Given the description of an element on the screen output the (x, y) to click on. 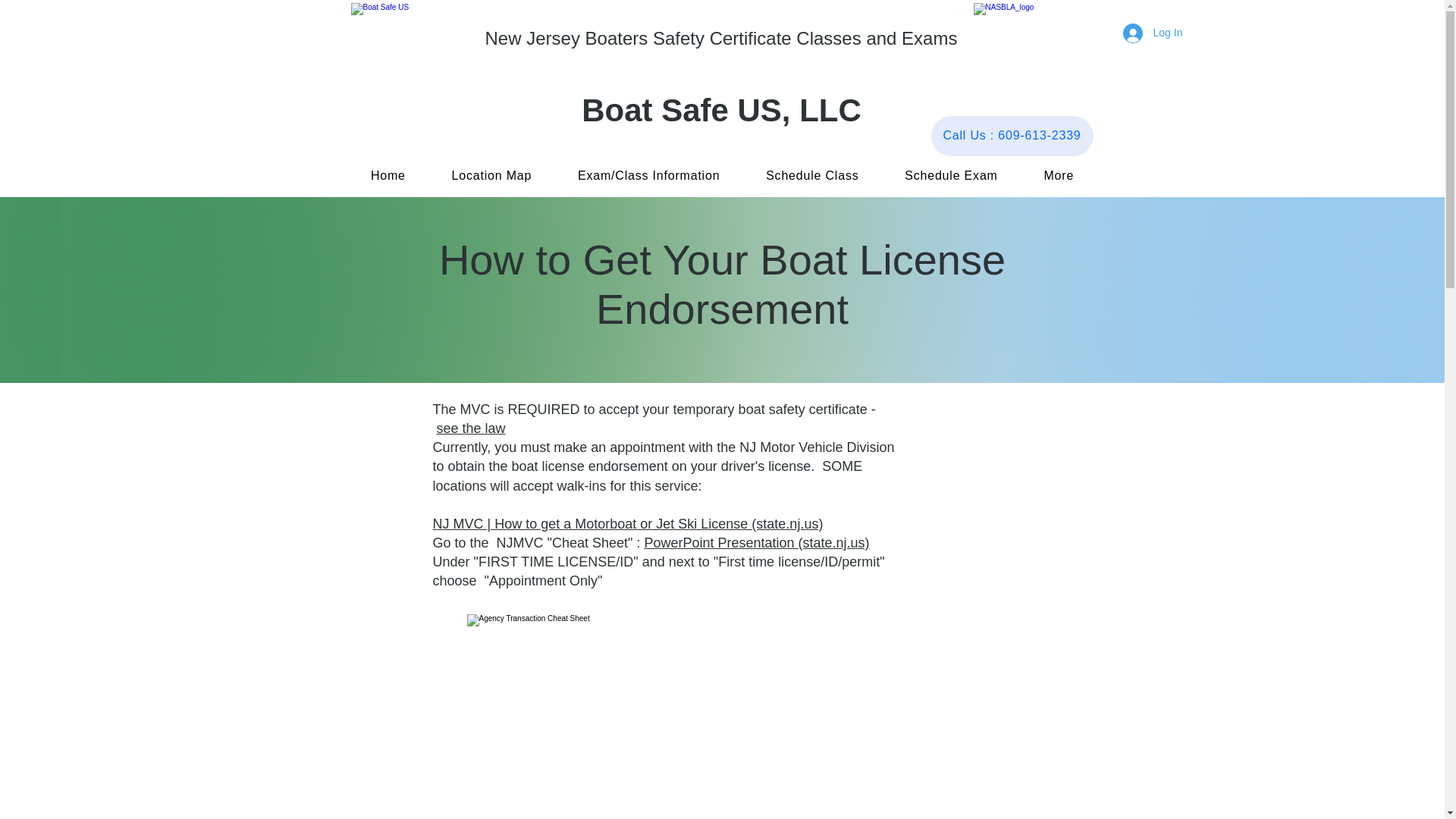
see the law (470, 427)
Location Map (490, 175)
Schedule Class (812, 175)
Log In (1142, 32)
Home (387, 175)
Schedule Exam (951, 175)
Call Us : 609-613-2339 (1012, 136)
